Given the description of an element on the screen output the (x, y) to click on. 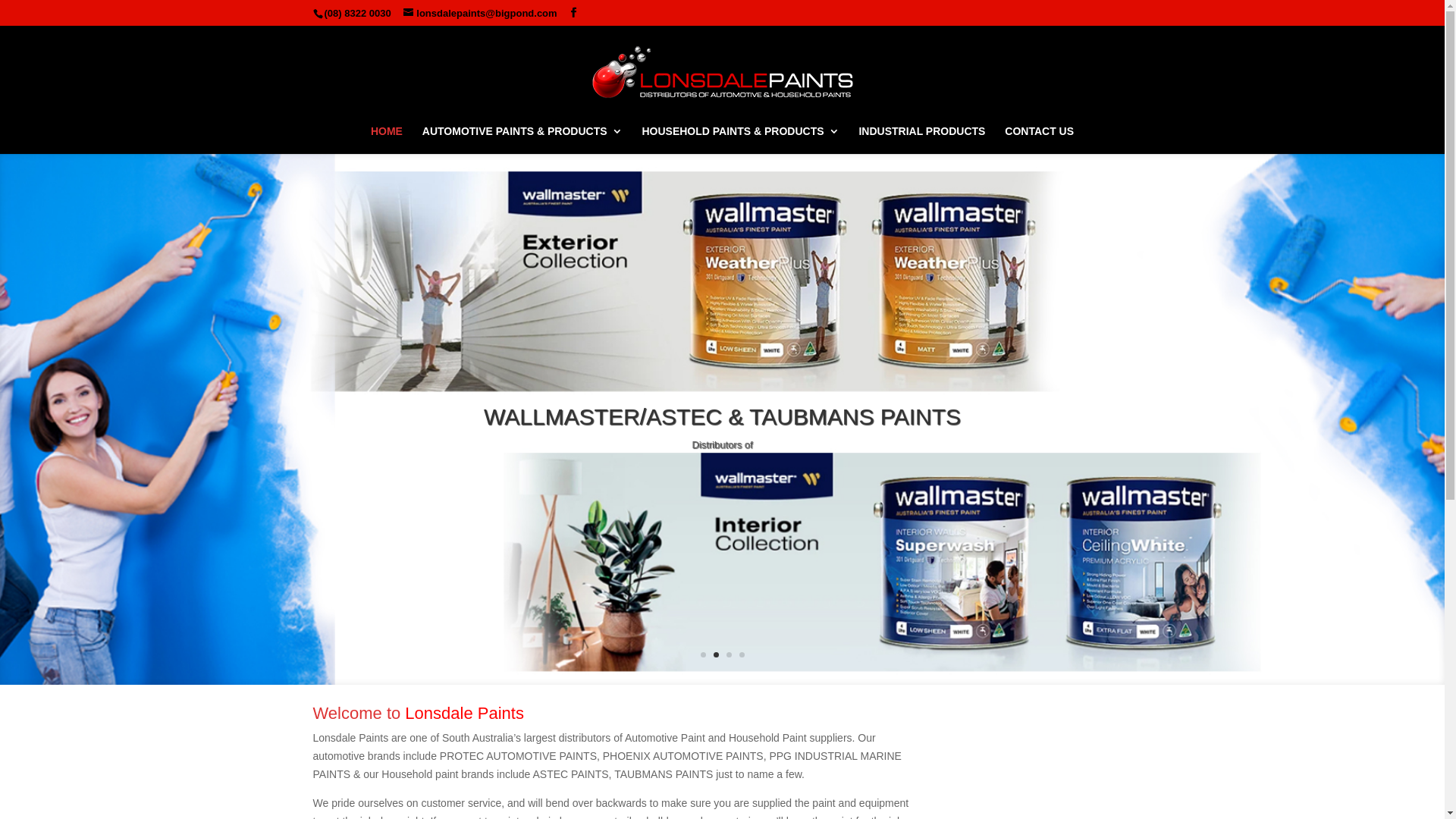
4 Element type: text (740, 654)
AUTOMOTIVE PAINTS & PRODUCTS Element type: text (522, 139)
1 Element type: text (703, 654)
HOME Element type: text (386, 139)
HOUSEHOLD PAINTS & PRODUCTS Element type: text (739, 139)
3 Element type: text (728, 654)
CONTACT US Element type: text (1038, 139)
lonsdalepaints@bigpond.com Element type: text (479, 12)
INDUSTRIAL PRODUCTS Element type: text (921, 139)
2 Element type: text (715, 654)
